Given the description of an element on the screen output the (x, y) to click on. 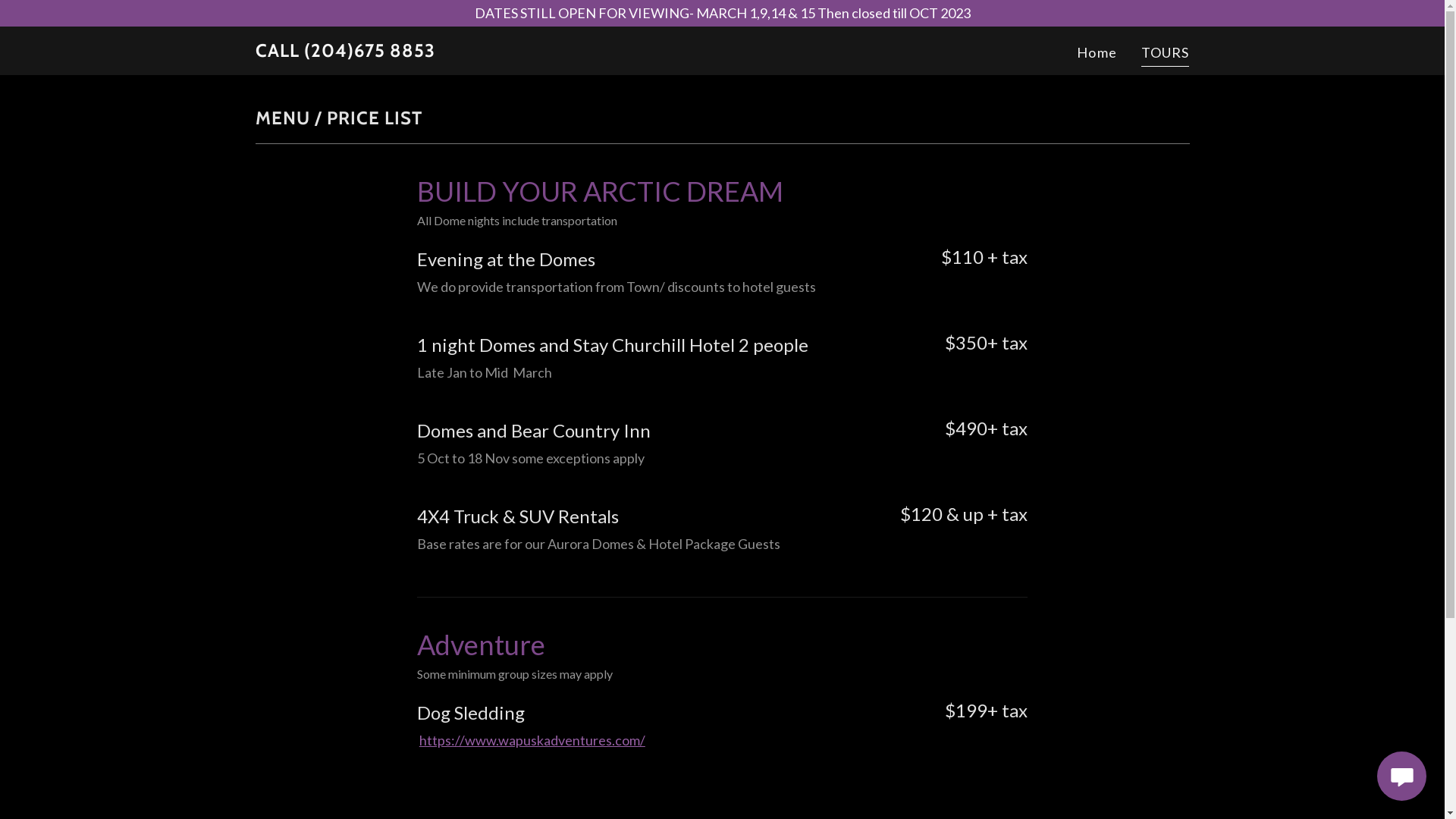
https://www.wapuskadventures.com/ Element type: text (532, 739)
TOURS Element type: text (1165, 54)
Home Element type: text (1096, 52)
CALL (204)675 8853 Element type: text (344, 51)
